Given the description of an element on the screen output the (x, y) to click on. 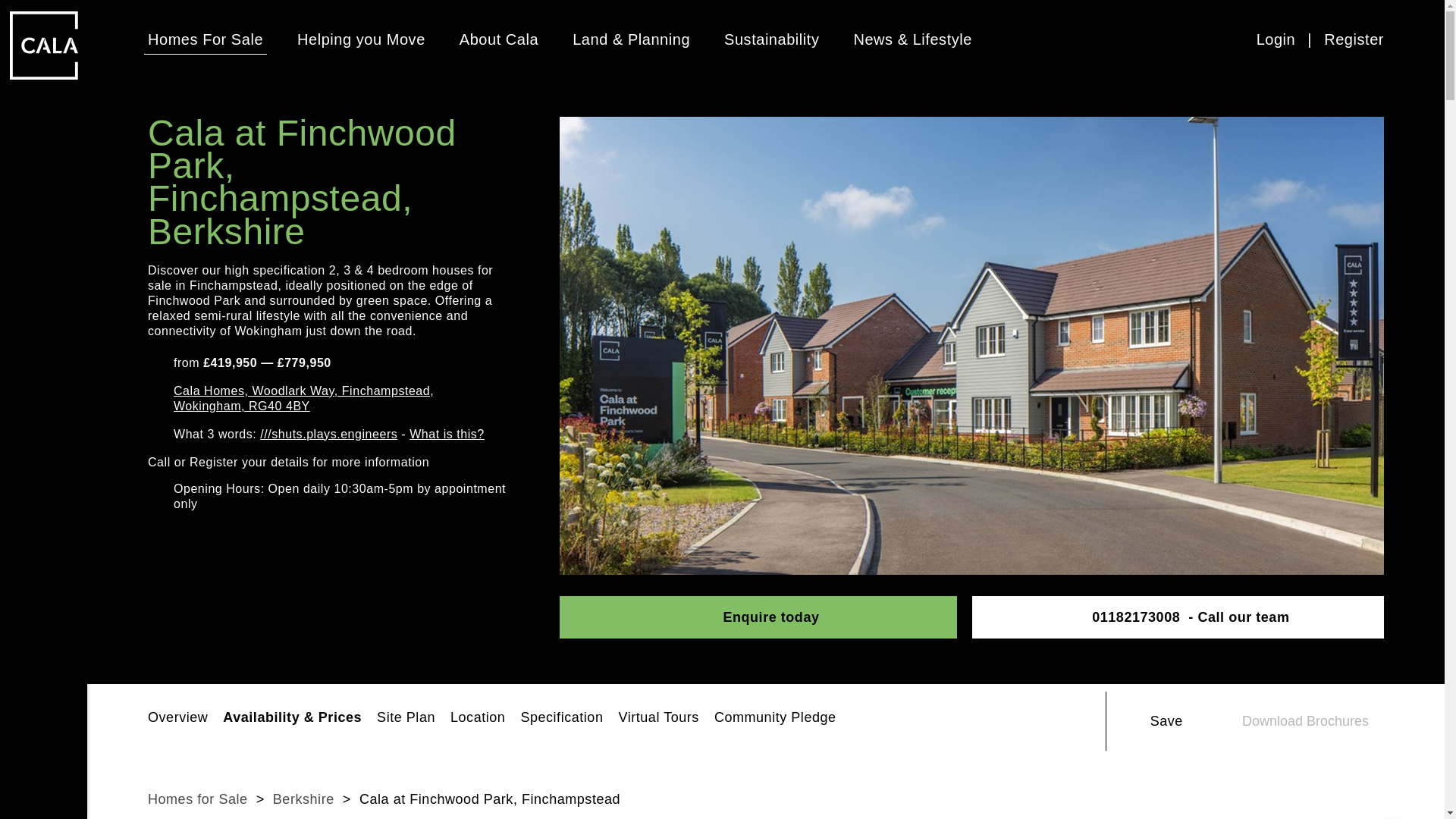
Enquire today (757, 617)
Homes For Sale (205, 39)
Site Plan (406, 720)
Helping you Move (360, 39)
Location (477, 720)
01182173008  - Call our team (1190, 617)
Cala Homes, Woodlark Way, Finchampstead, Wokingham, RG40 4BY (339, 399)
About Cala (499, 39)
Overview (178, 720)
What is this? (446, 433)
